Given the description of an element on the screen output the (x, y) to click on. 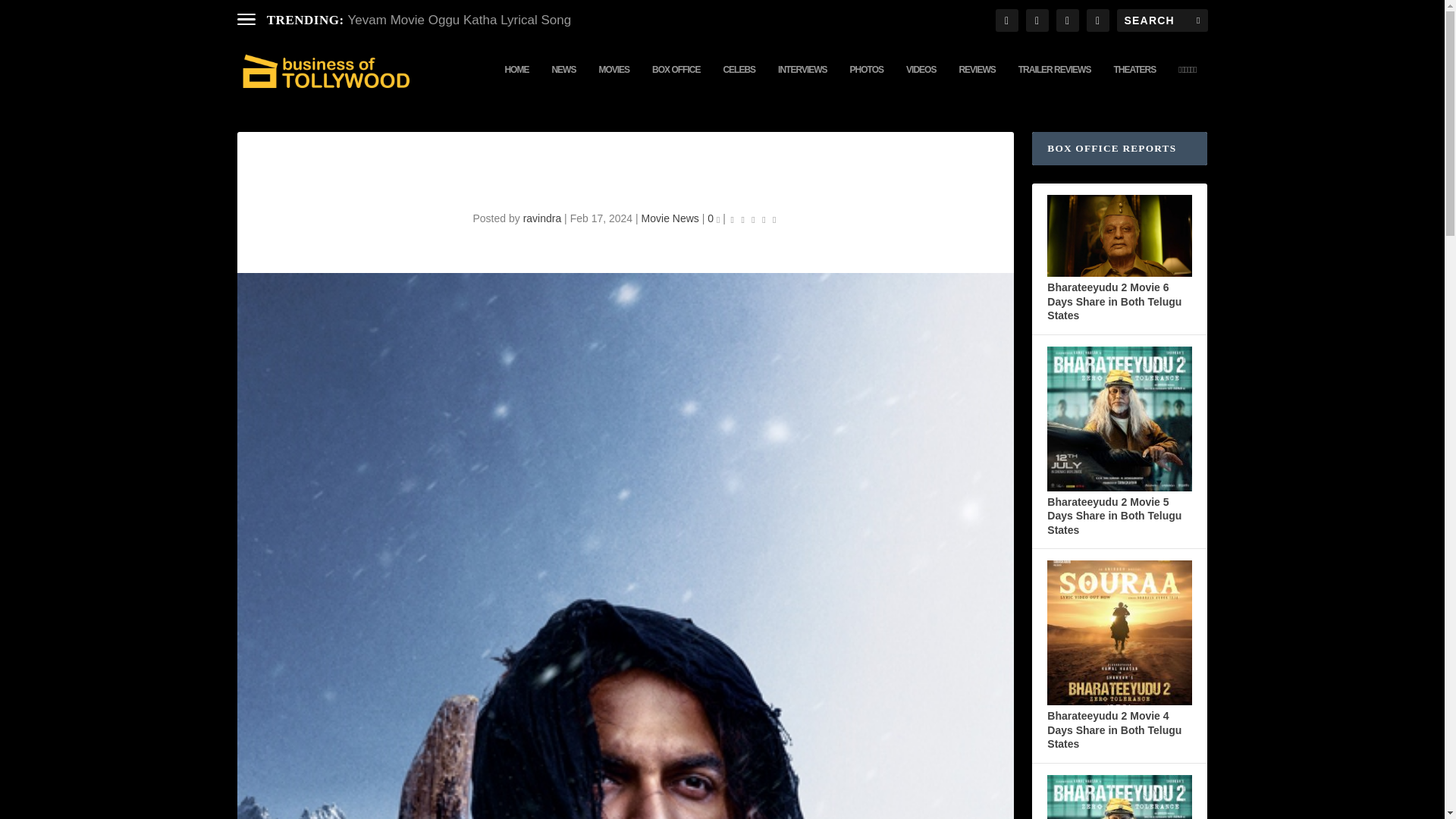
INTERVIEWS (802, 82)
BOX OFFICE (676, 82)
Rating: 0.00 (753, 218)
Yevam Movie Oggu Katha Lyrical Song (459, 20)
REVIEWS (976, 82)
TRAILER REVIEWS (1053, 82)
THEATERS (1134, 82)
ravindra (542, 218)
Search for: (1161, 20)
Posts by ravindra (542, 218)
